Given the description of an element on the screen output the (x, y) to click on. 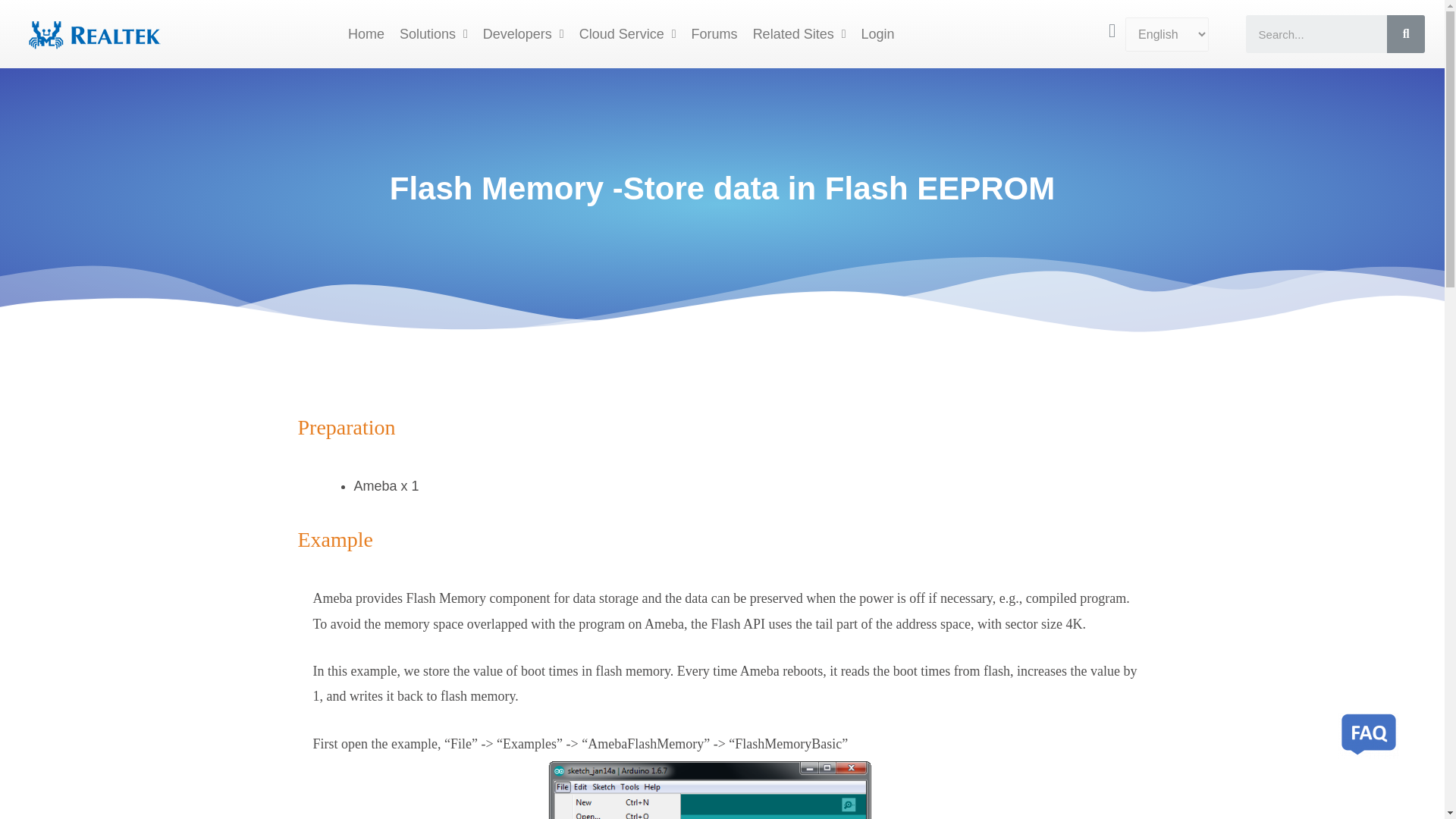
Forums (714, 33)
Search (1406, 34)
Solutions (433, 33)
Search (1316, 34)
Related Sites (799, 33)
Home (365, 33)
Developers (524, 33)
Cloud Service (628, 33)
Login (877, 33)
